Given the description of an element on the screen output the (x, y) to click on. 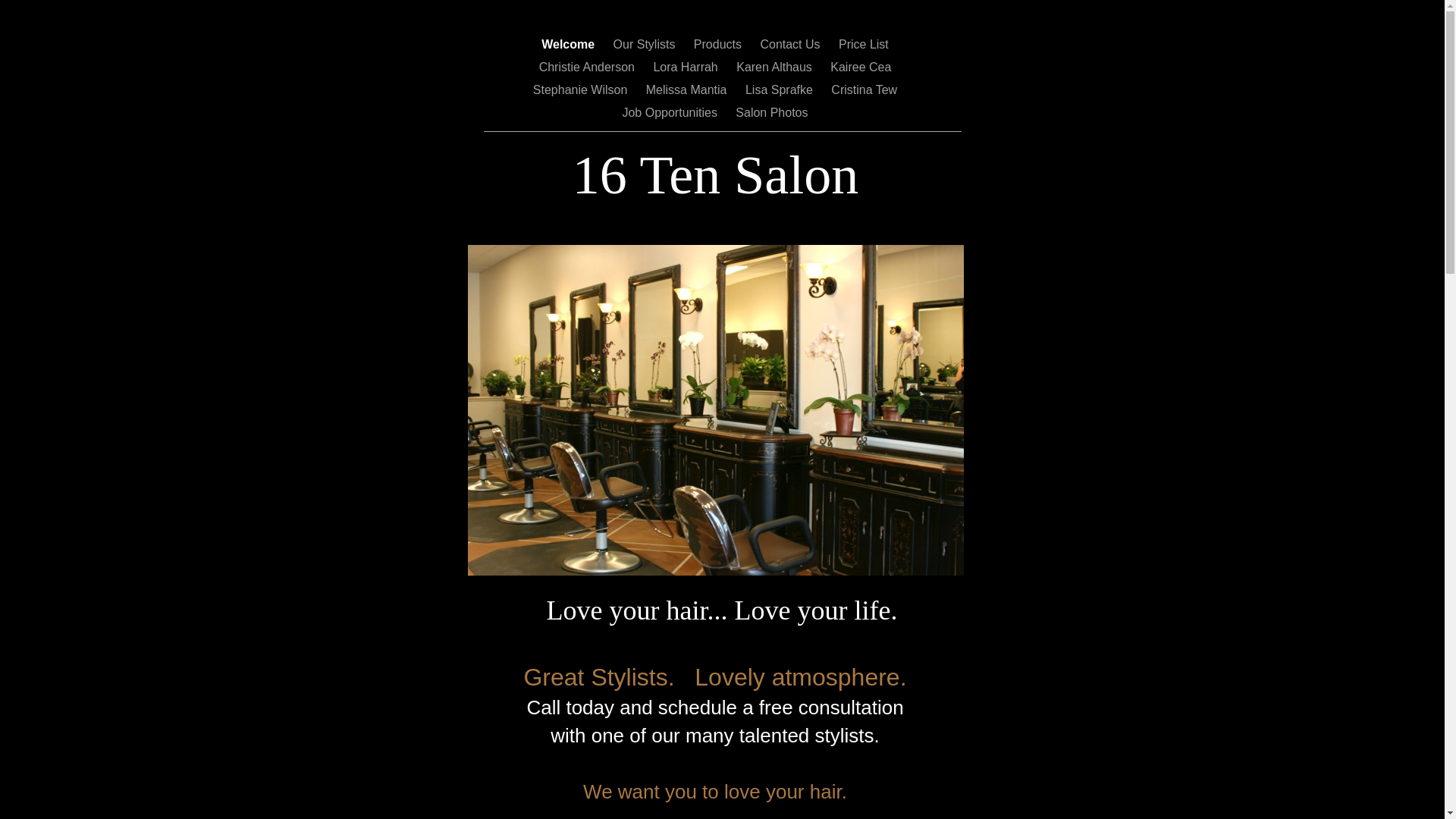
Products Element type: text (719, 43)
Karen Althaus Element type: text (775, 66)
Lisa Sprafke Element type: text (780, 89)
Lora Harrah Element type: text (686, 66)
Salon Photos Element type: text (771, 112)
Our Stylists Element type: text (645, 43)
Price List Element type: text (863, 43)
Job Opportunities Element type: text (670, 112)
Kairee Cea Element type: text (860, 66)
Melissa Mantia Element type: text (688, 89)
Welcome Element type: text (569, 43)
Christie Anderson Element type: text (588, 66)
Contact Us Element type: text (791, 43)
Cristina Tew Element type: text (864, 89)
Stephanie Wilson Element type: text (581, 89)
